Given the description of an element on the screen output the (x, y) to click on. 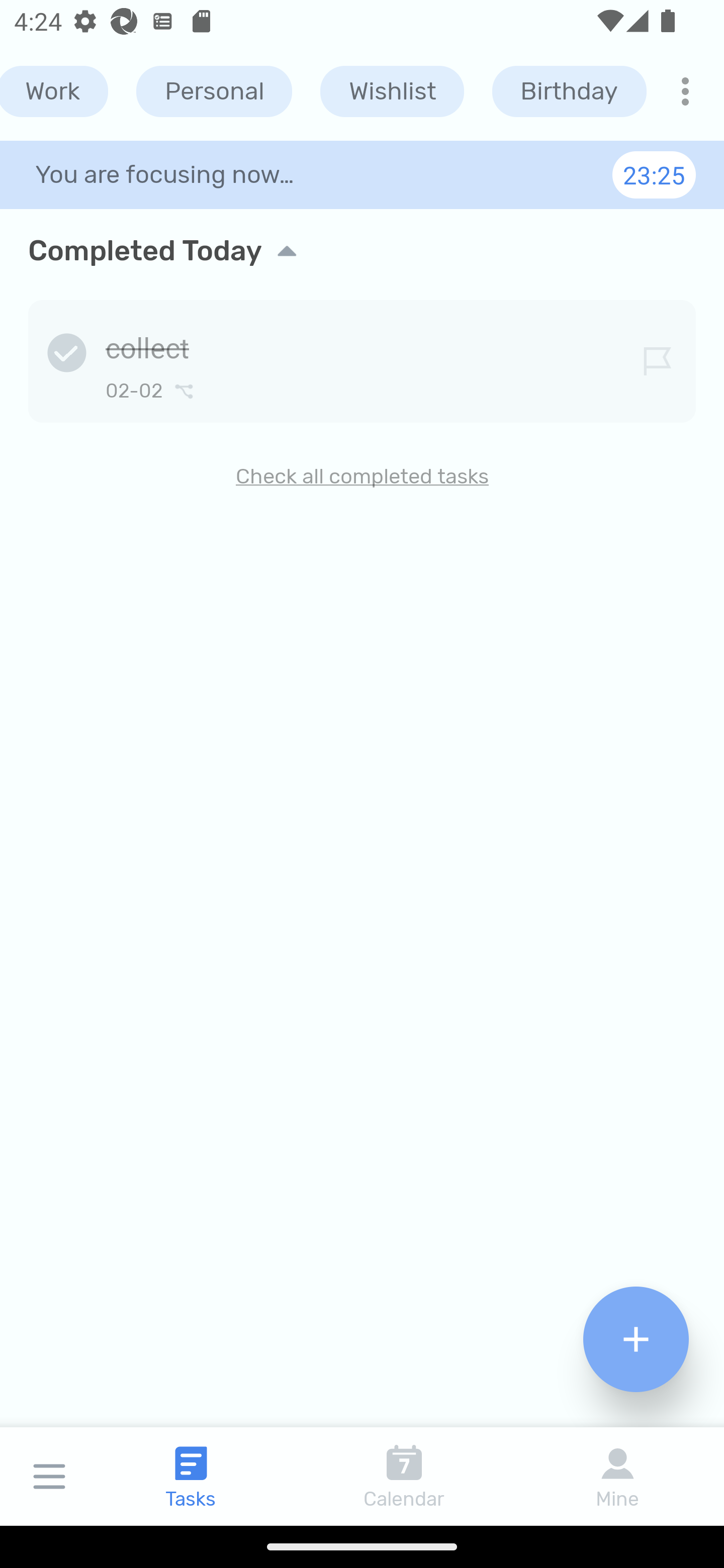
Work (53, 91)
Personal (213, 91)
Wishlist (392, 91)
Birthday (569, 91)
You are focusing now… 23:25 (362, 174)
Completed Today (362, 250)
collect 02-02 (362, 358)
Check all completed tasks (361, 476)
Tasks (190, 1475)
Calendar (404, 1475)
Mine (617, 1475)
